Given the description of an element on the screen output the (x, y) to click on. 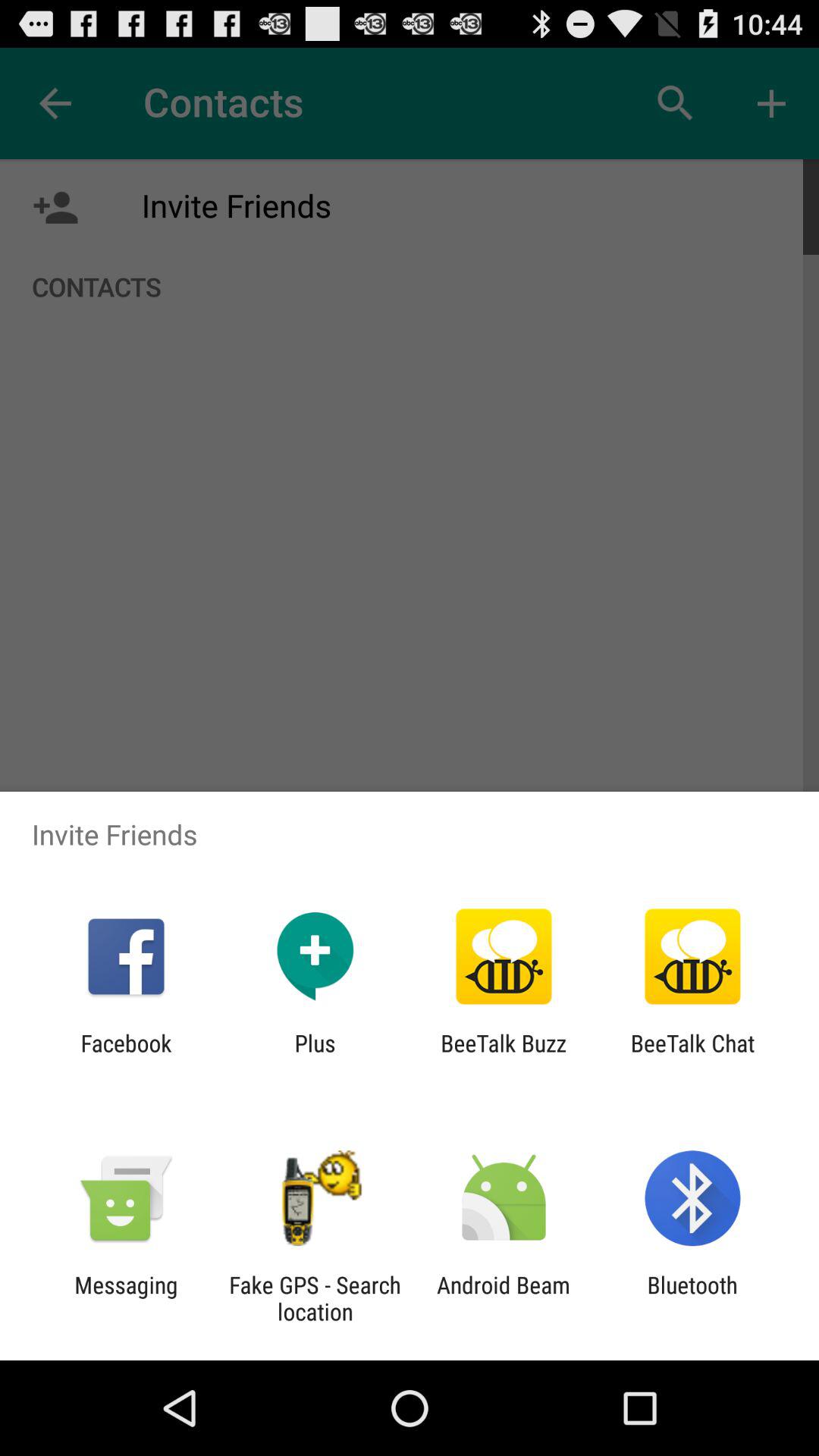
flip until the messaging (126, 1298)
